Given the description of an element on the screen output the (x, y) to click on. 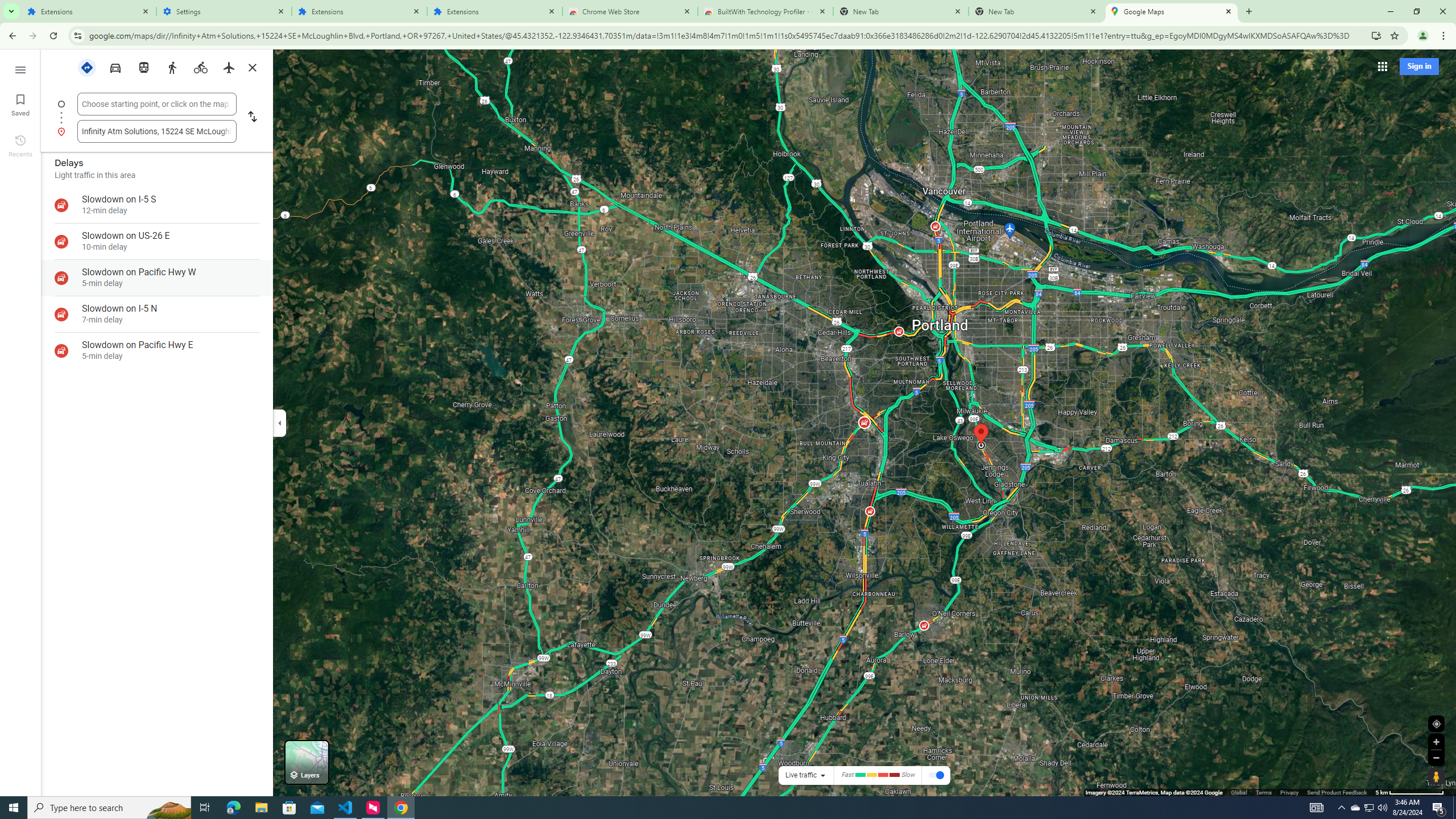
Flights (228, 66)
Live traffic (800, 774)
Close directions (252, 67)
Zoom out (1436, 757)
Show Your Location (1436, 723)
New Tab (1036, 11)
Chrome Web Store (630, 11)
Cycling (200, 66)
 Show traffic  (936, 775)
